Given the description of an element on the screen output the (x, y) to click on. 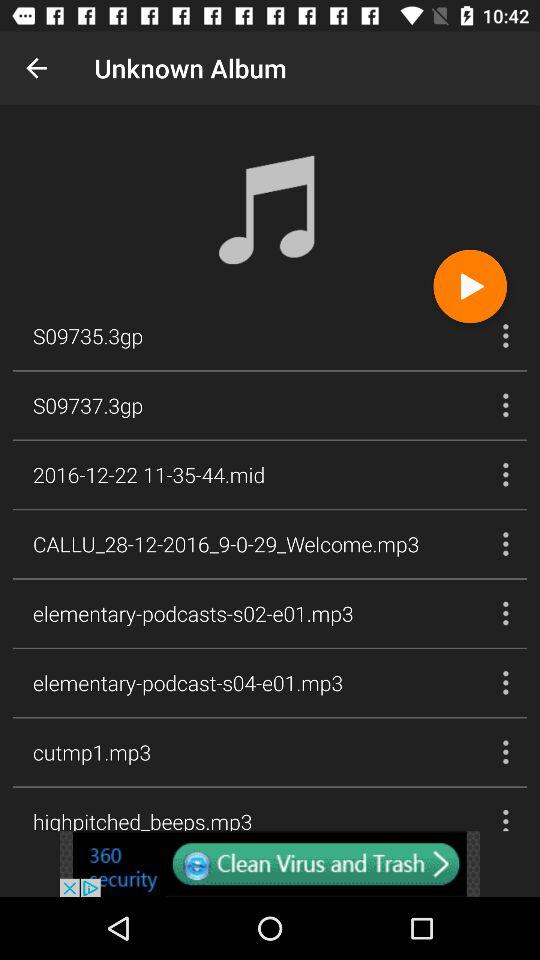
play button (470, 286)
